Given the description of an element on the screen output the (x, y) to click on. 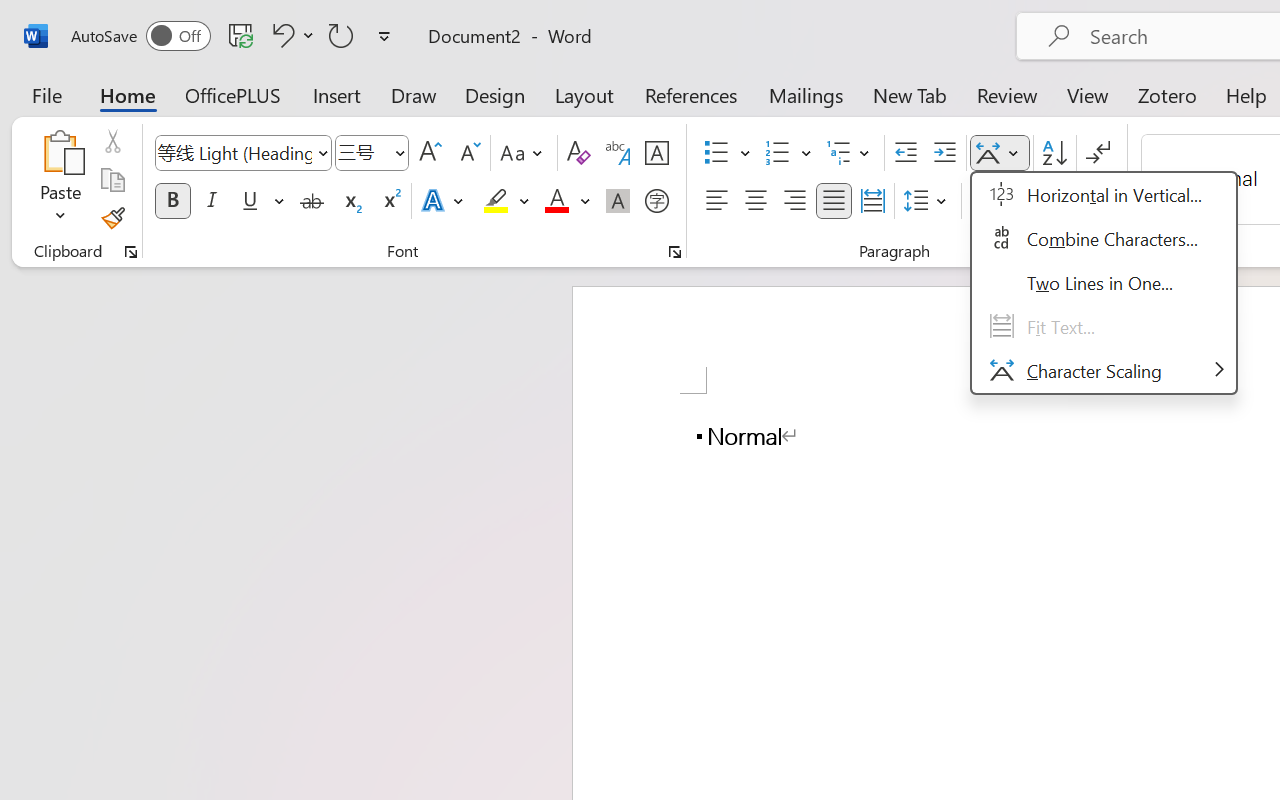
Enclose Characters... (656, 201)
Shrink Font (468, 153)
Font Color Red (556, 201)
Paste (60, 179)
Grow Font (430, 153)
Align Right (794, 201)
Review (1007, 94)
Repeat Doc Close (341, 35)
Underline (250, 201)
Numbering (778, 153)
Copy (112, 179)
Justify (834, 201)
View (1087, 94)
